Given the description of an element on the screen output the (x, y) to click on. 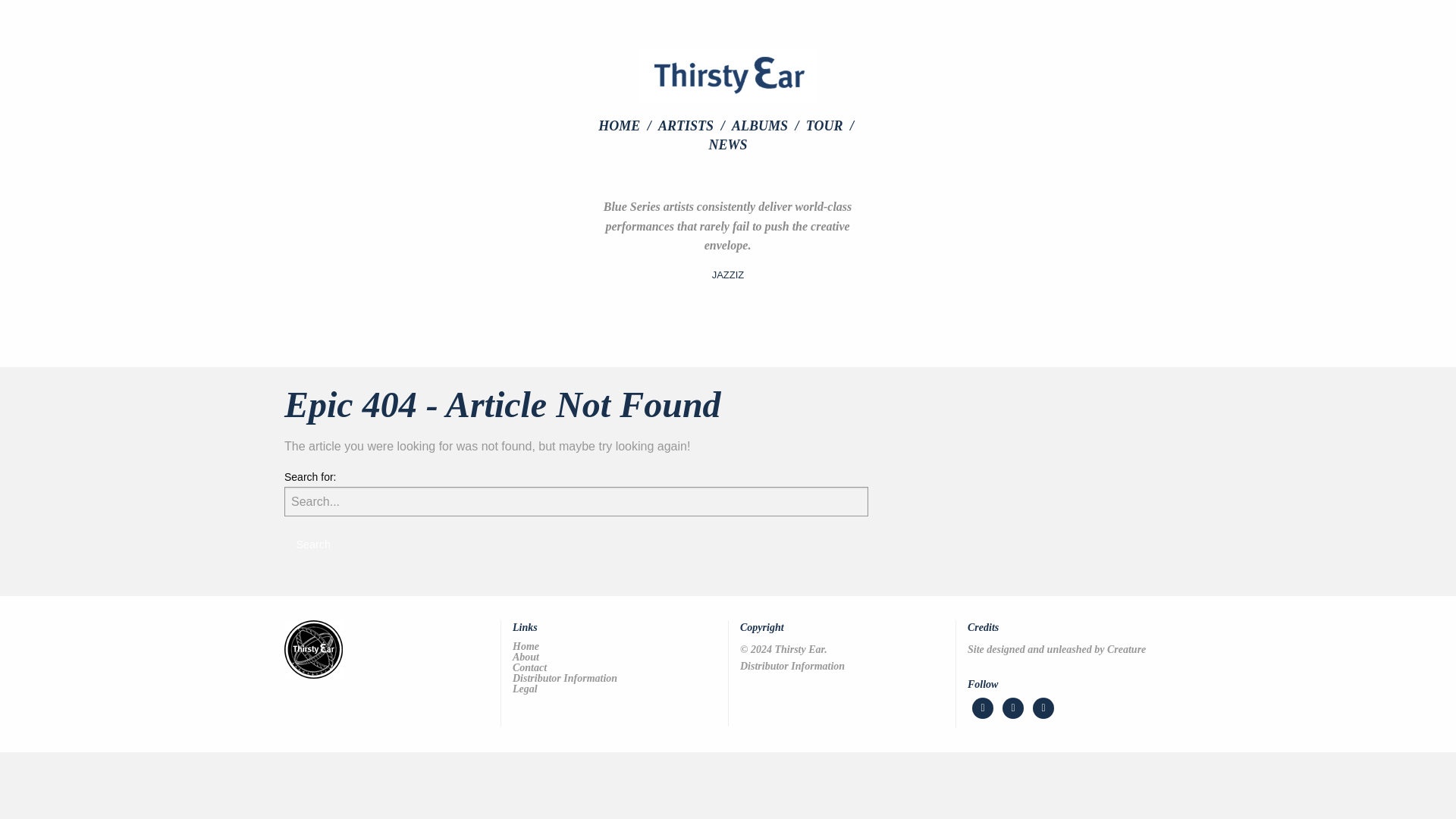
Search (312, 543)
Search (312, 543)
Legal (614, 688)
Creature (1125, 649)
Home (614, 646)
NEWS (726, 144)
TOUR (831, 125)
ARTISTS (693, 125)
Distributor Information (614, 678)
ALBUMS (767, 125)
